Given the description of an element on the screen output the (x, y) to click on. 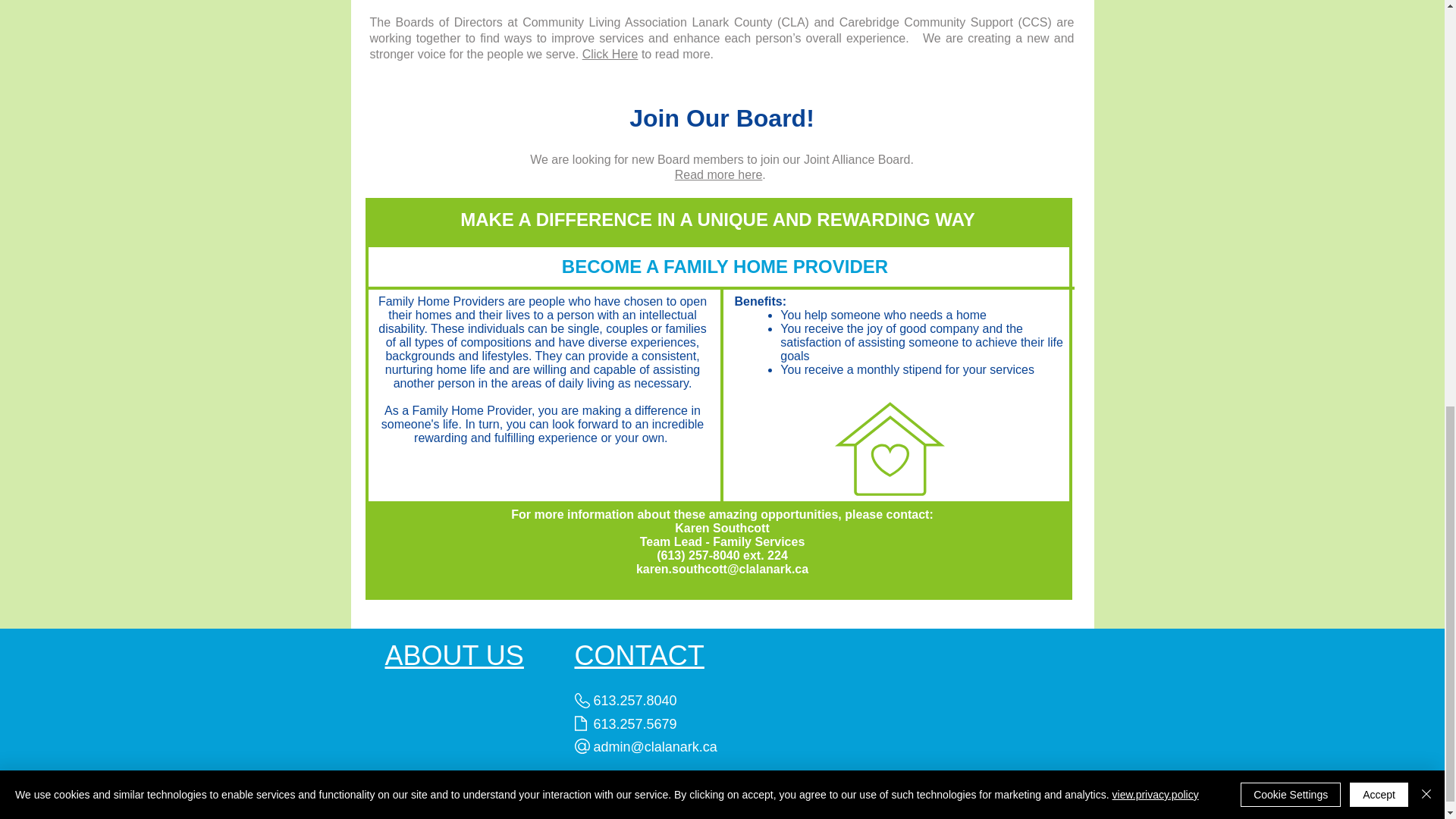
Read more here (718, 174)
CONTACT (639, 654)
Click Here (610, 53)
ABOUT US (454, 654)
